Given the description of an element on the screen output the (x, y) to click on. 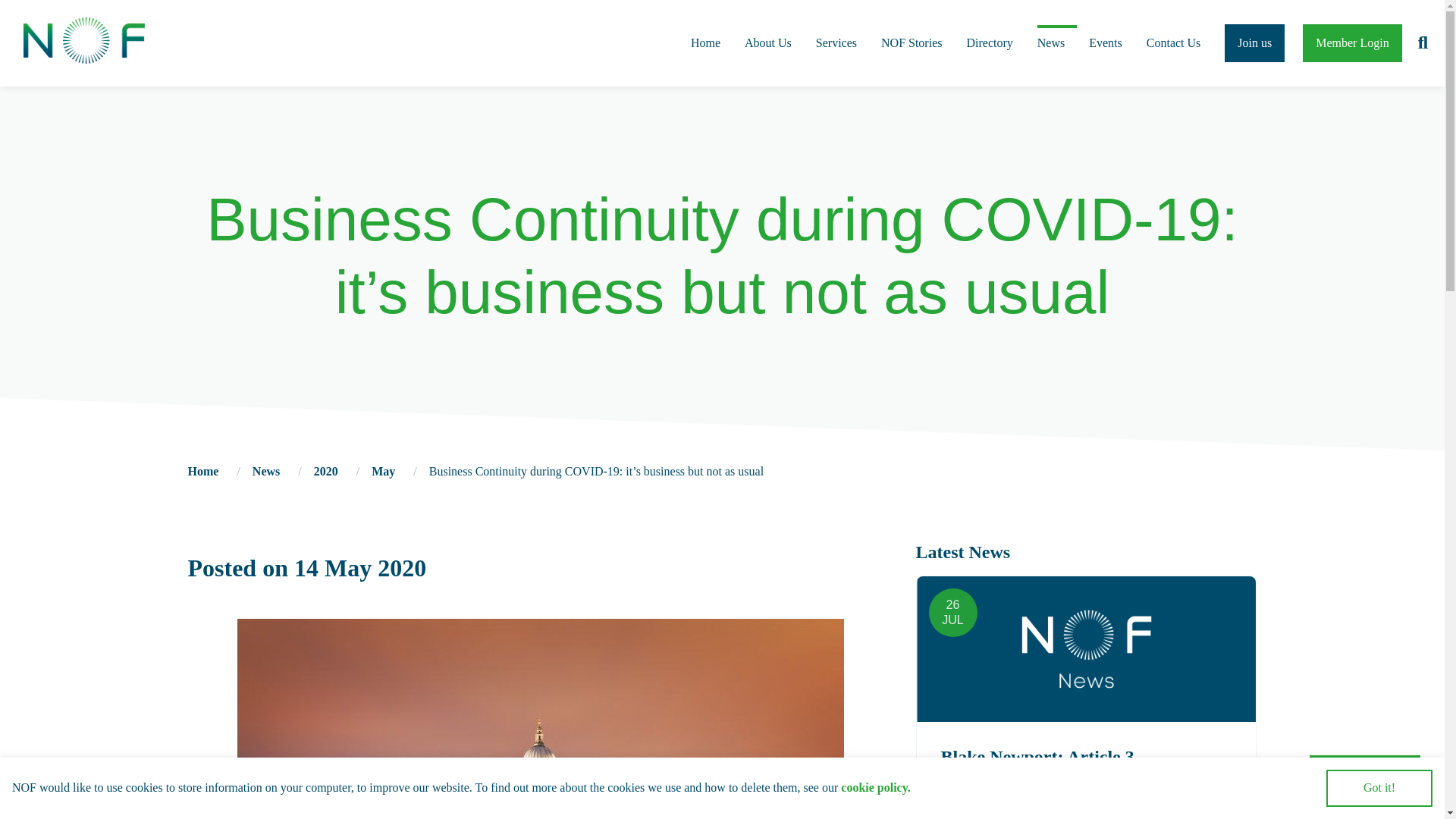
2020 (325, 471)
Home (203, 471)
Got it! (1379, 787)
Let's talk (1364, 774)
cookie policy. (876, 787)
News (265, 471)
